Given the description of an element on the screen output the (x, y) to click on. 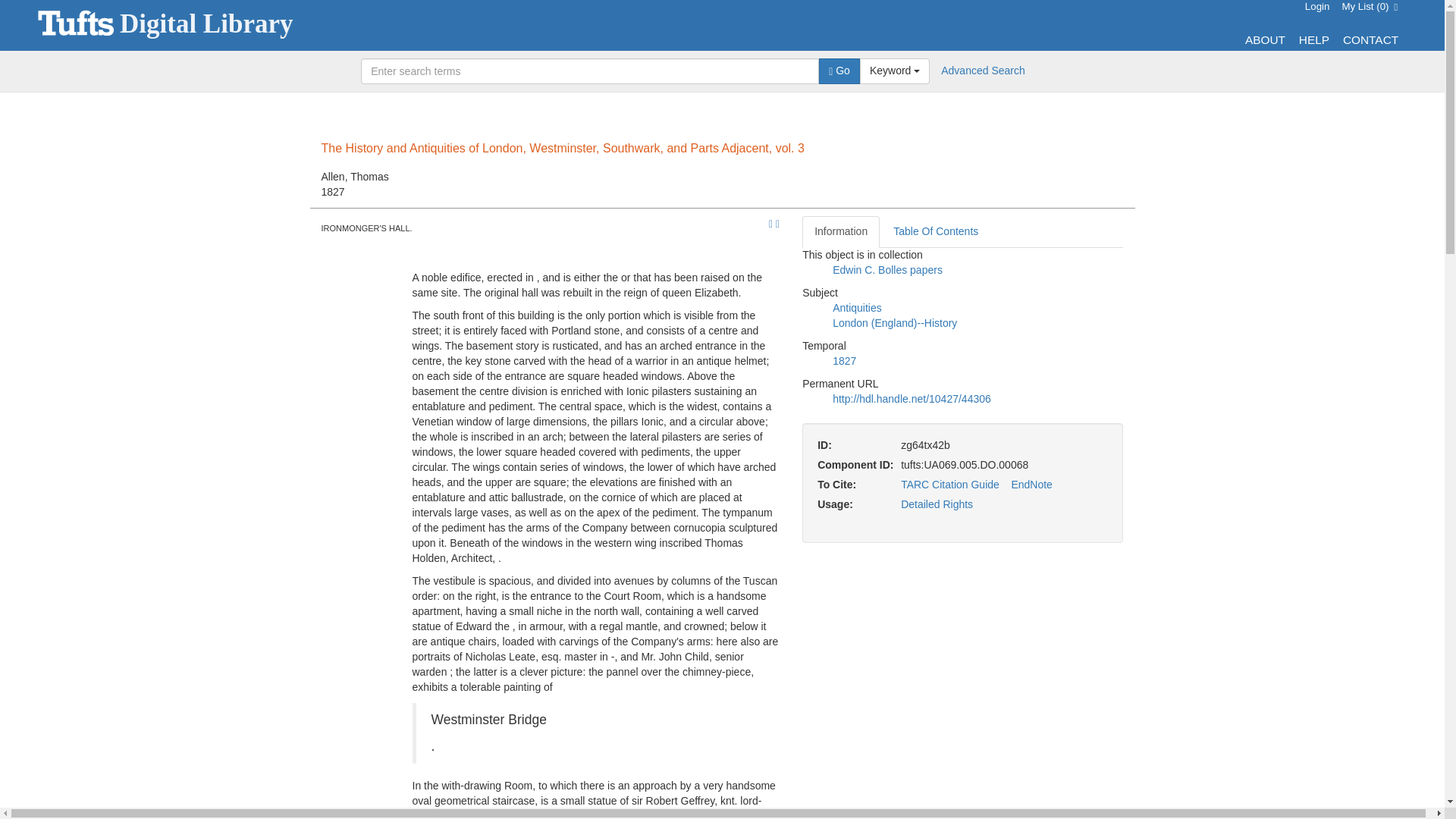
Advanced Search (982, 70)
Table Of Contents (935, 232)
TARC Citation Guide (949, 484)
EndNote (721, 25)
HELP (1030, 484)
Edwin C. Bolles papers (1313, 39)
Detailed Rights (887, 269)
ABOUT (936, 503)
CONTACT (1264, 39)
Keyword (1369, 39)
Go (895, 71)
Information (839, 71)
Login (840, 232)
Antiquities (1317, 6)
